Given the description of an element on the screen output the (x, y) to click on. 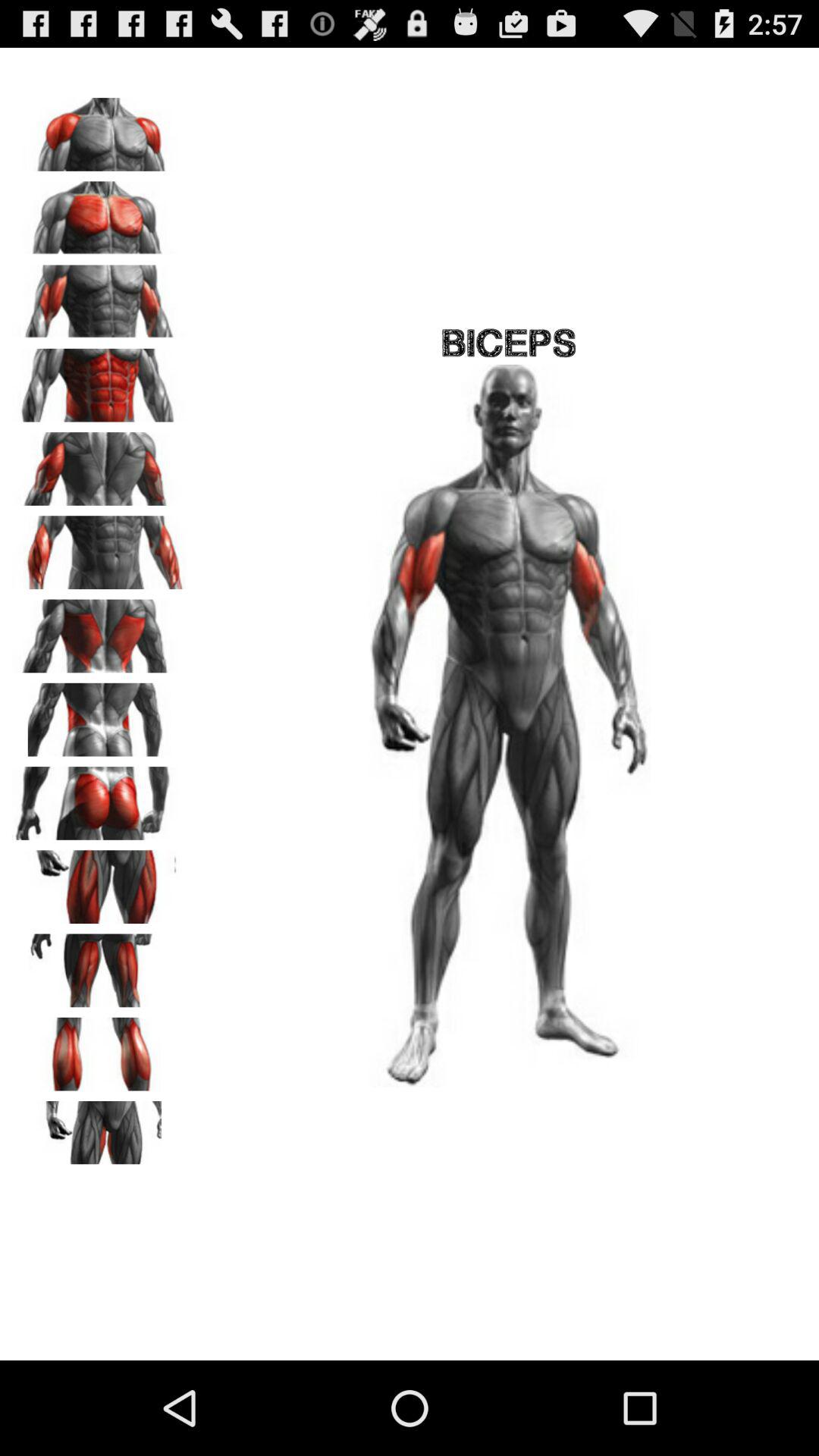
back side of the body (99, 630)
